Given the description of an element on the screen output the (x, y) to click on. 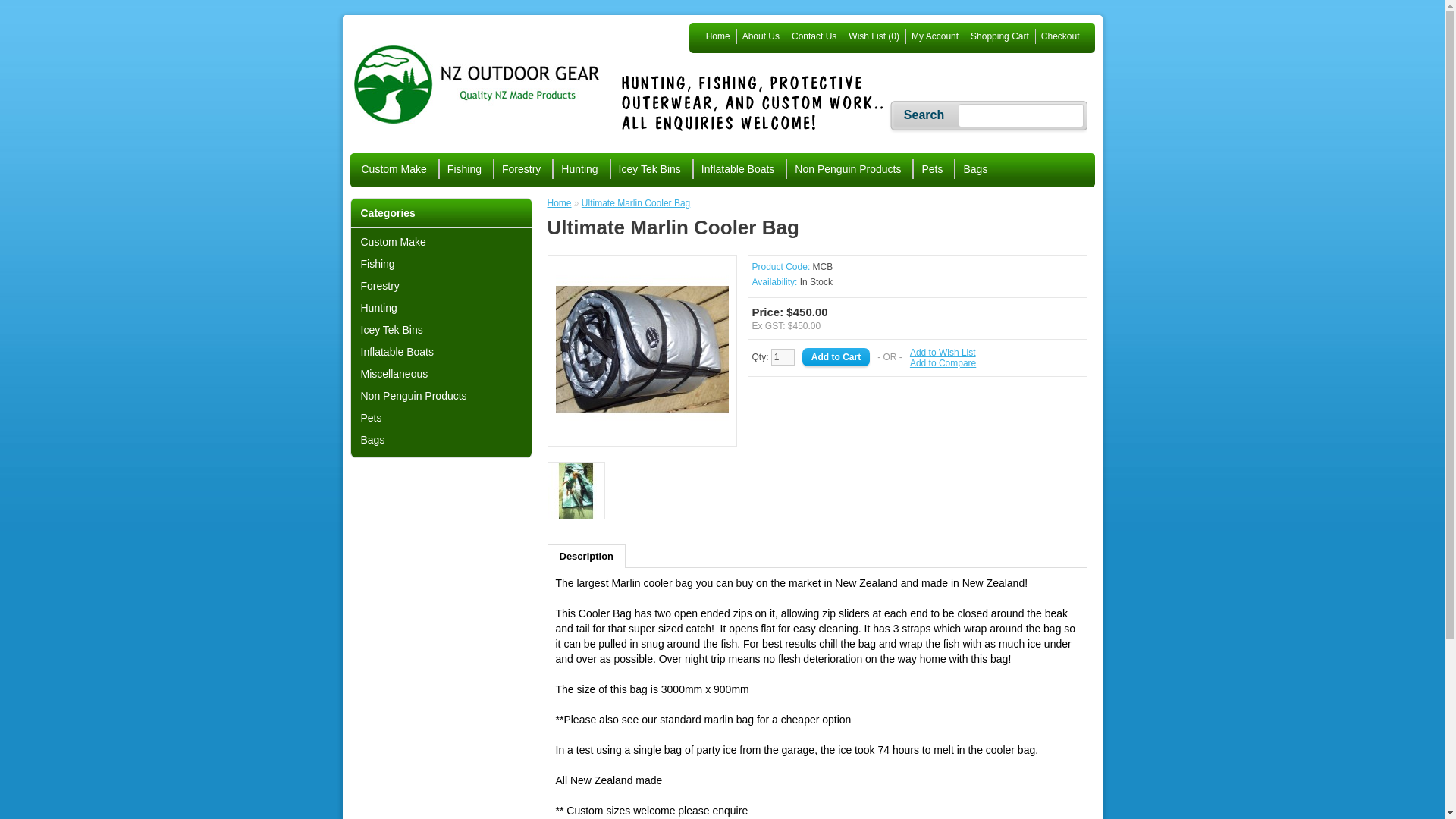
Icey Tek Bins (649, 168)
Shopping Cart (996, 36)
Ultimate Marlin Cooler Bag (641, 432)
Inflatable Boats (738, 168)
Forestry (520, 168)
Checkout (1057, 36)
Add to Cart (835, 357)
Ultimate Marlin Cooler Bag (576, 491)
Ultimate Marlin Cooler Bag (641, 348)
Custom Make (393, 168)
1 (782, 356)
Fishing (463, 168)
Hunting (578, 168)
About Us (757, 36)
Home (715, 36)
